Given the description of an element on the screen output the (x, y) to click on. 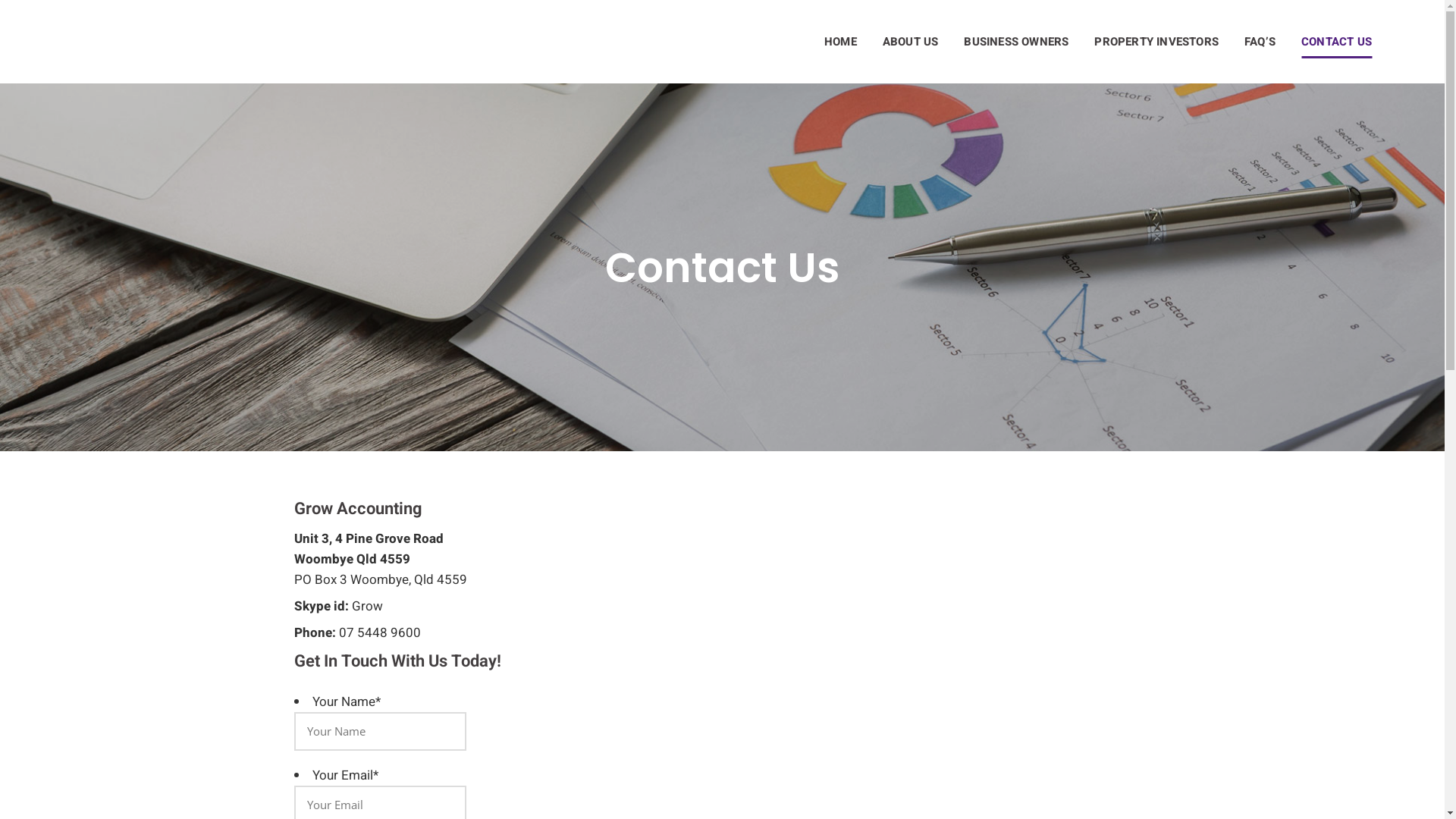
HOME Element type: text (840, 41)
07 5448 9600 Element type: text (379, 632)
CONTACT US Element type: text (1336, 41)
BUSINESS OWNERS Element type: text (1015, 41)
PROPERTY INVESTORS Element type: text (1156, 41)
ABOUT US Element type: text (910, 41)
